Given the description of an element on the screen output the (x, y) to click on. 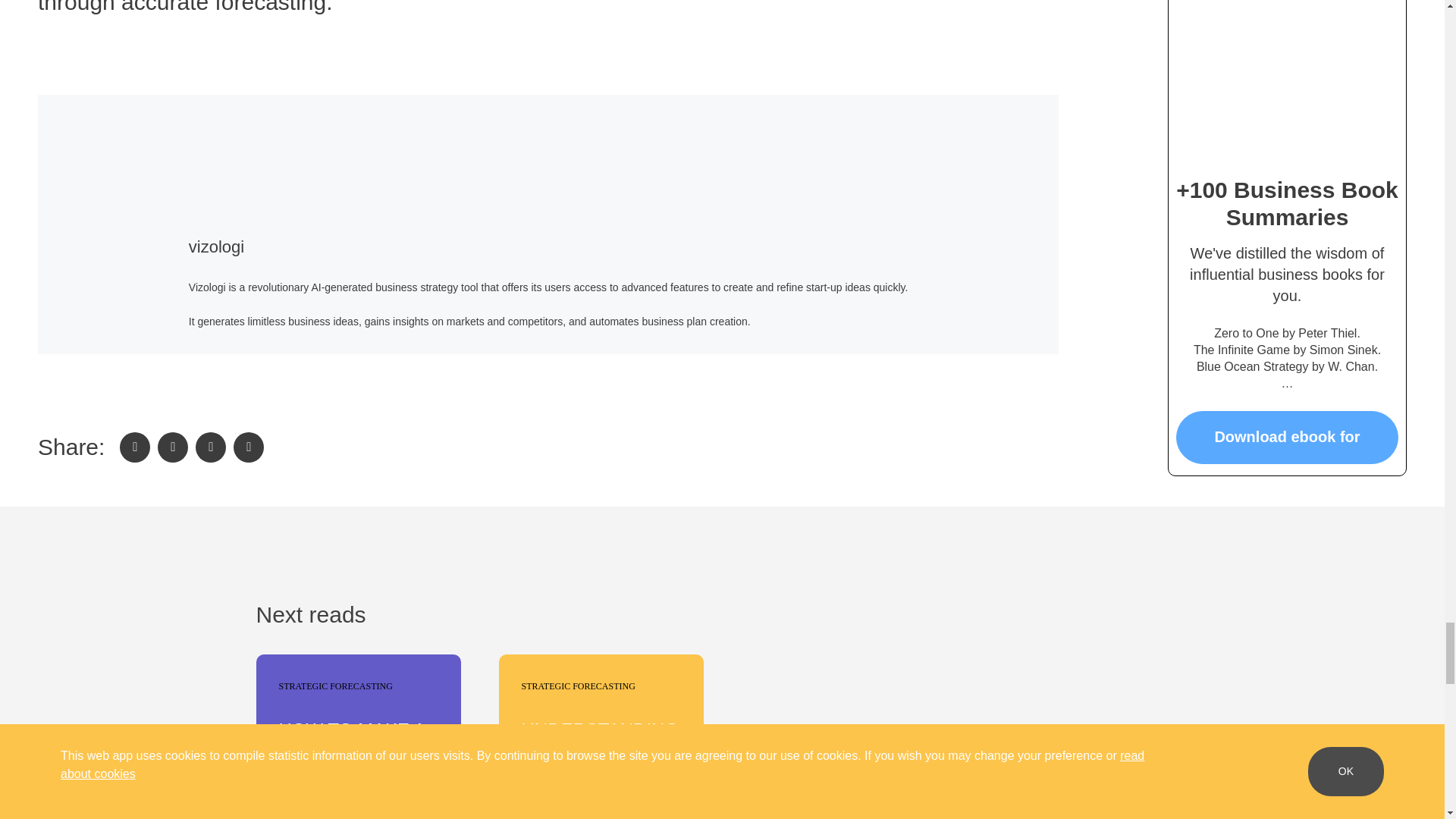
STRATEGIC FORECASTING (573, 686)
LinkedIn (210, 447)
vizologi (216, 246)
Twitter (172, 447)
Facebook (134, 447)
Pinterest (247, 447)
STRATEGIC FORECASTING (331, 686)
